Given the description of an element on the screen output the (x, y) to click on. 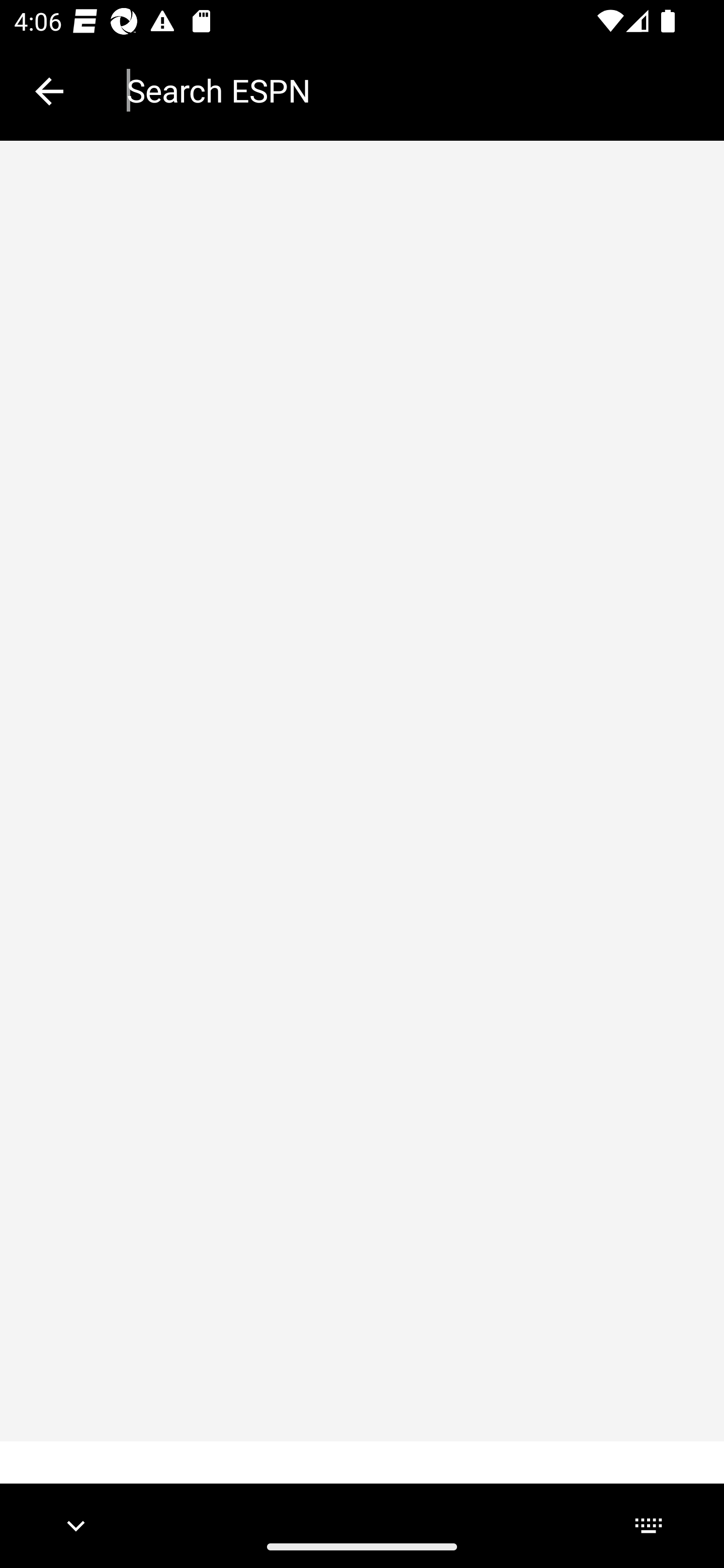
Collapse (49, 91)
Search ESPN (411, 90)
